Given the description of an element on the screen output the (x, y) to click on. 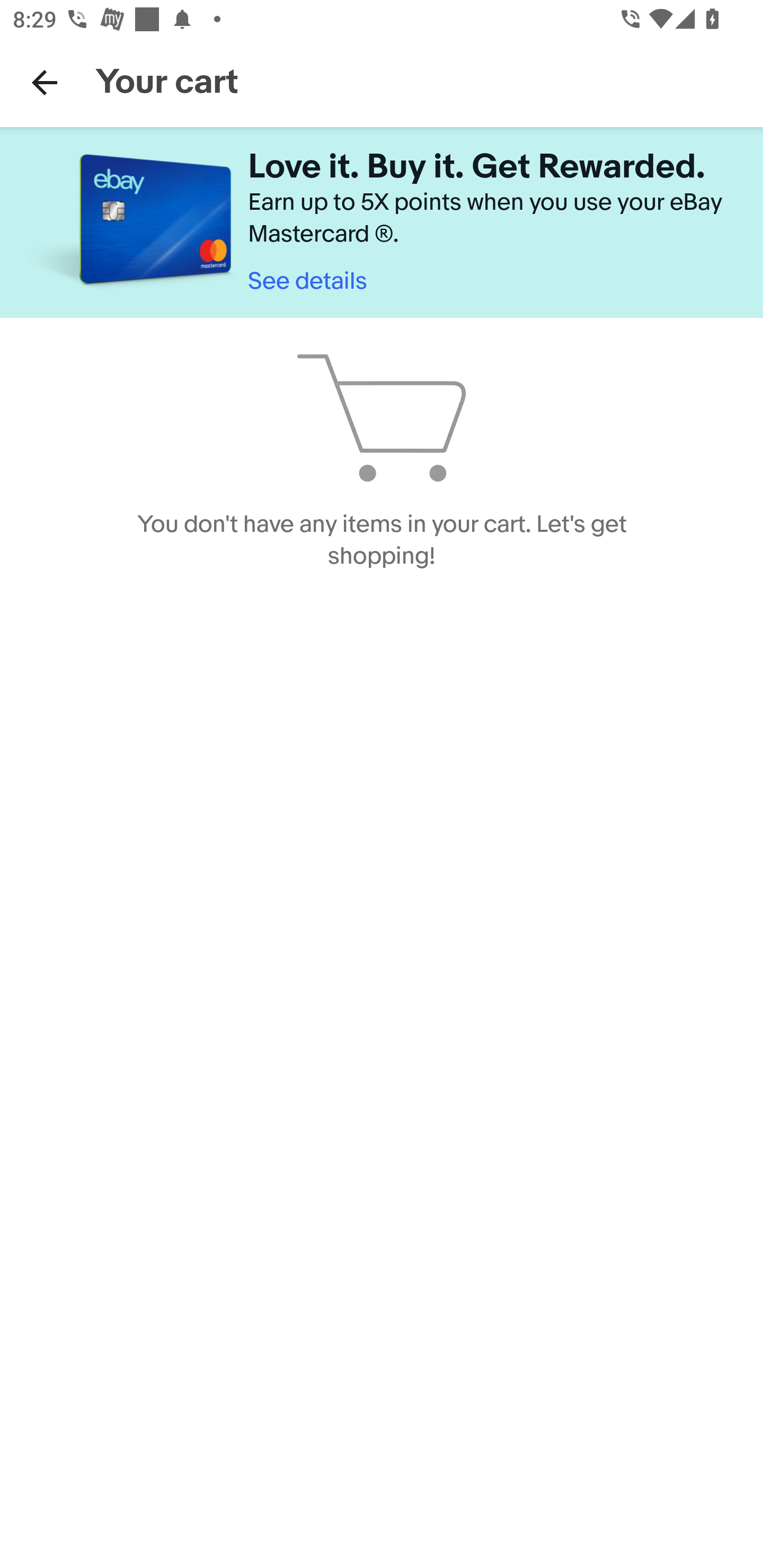
Navigate up (44, 82)
